Given the description of an element on the screen output the (x, y) to click on. 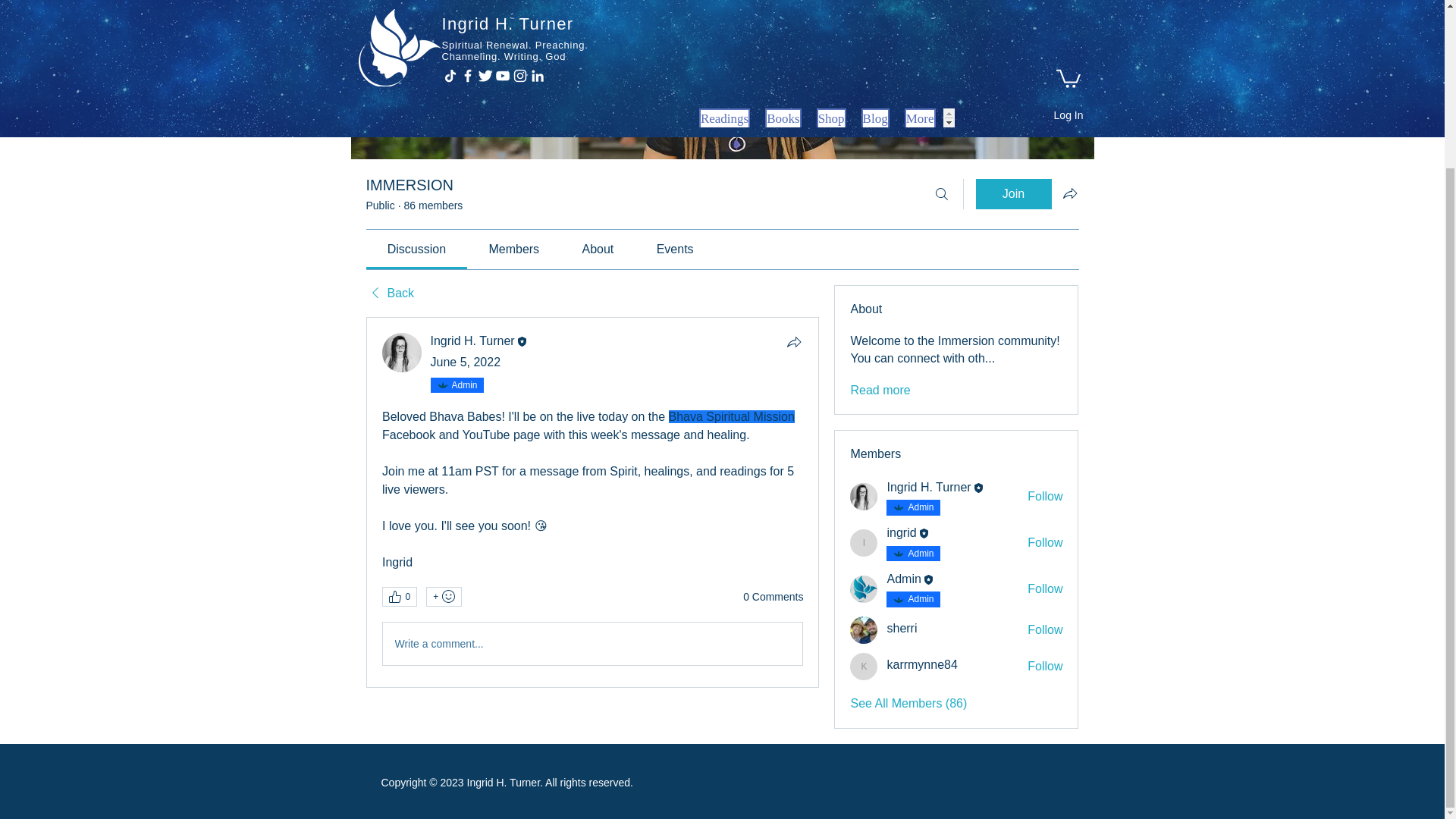
Admin (903, 579)
Follow (1044, 542)
Ingrid H. Turner (472, 340)
ingrid (900, 532)
Admin (920, 553)
Admin (920, 599)
Write a comment... (591, 643)
Back (389, 293)
ingrid (863, 542)
Ingrid H. Turner (928, 487)
